Given the description of an element on the screen output the (x, y) to click on. 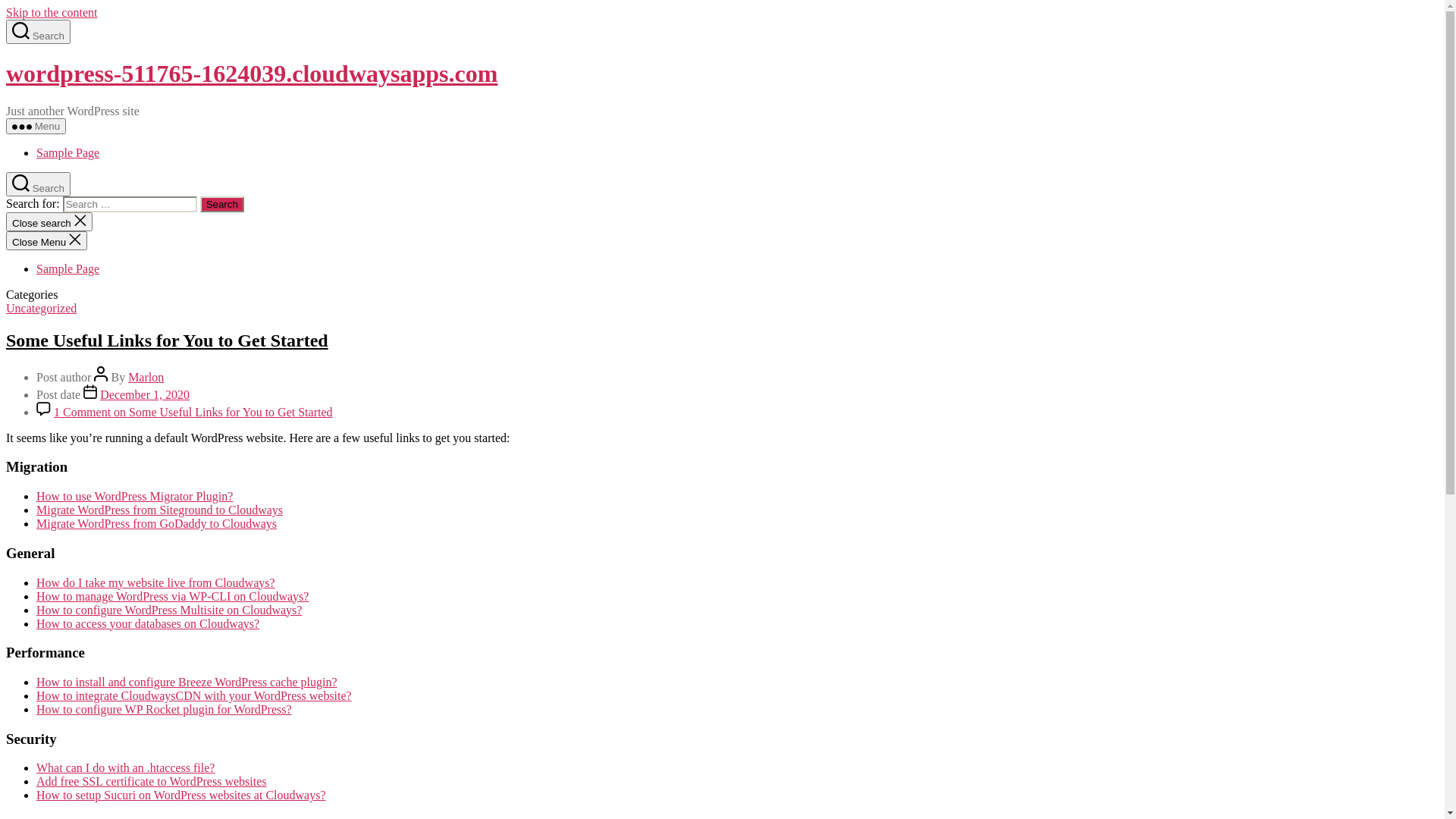
wordpress-511765-1624039.cloudwaysapps.com Element type: text (251, 73)
Search Element type: text (38, 31)
December 1, 2020 Element type: text (144, 394)
How to manage WordPress via WP-CLI on Cloudways? Element type: text (172, 595)
1 Comment on Some Useful Links for You to Get Started Element type: text (192, 411)
Uncategorized Element type: text (41, 307)
Add free SSL certificate to WordPress websites Element type: text (151, 781)
Close search Element type: text (49, 221)
Migrate WordPress from Siteground to Cloudways Element type: text (159, 509)
Menu Element type: text (35, 126)
Sample Page Element type: text (67, 268)
How to setup Sucuri on WordPress websites at Cloudways? Element type: text (181, 794)
How to install and configure Breeze WordPress cache plugin? Element type: text (186, 681)
How do I take my website live from Cloudways? Element type: text (155, 582)
Migrate WordPress from GoDaddy to Cloudways Element type: text (156, 523)
How to configure WP Rocket plugin for WordPress? Element type: text (163, 708)
Search Element type: text (222, 204)
Some Useful Links for You to Get Started Element type: text (167, 340)
Search Element type: text (38, 184)
How to integrate CloudwaysCDN with your WordPress website? Element type: text (193, 695)
Marlon Element type: text (145, 376)
Close Menu Element type: text (46, 240)
What can I do with an .htaccess file? Element type: text (125, 767)
How to access your databases on Cloudways? Element type: text (147, 623)
Skip to the content Element type: text (51, 12)
How to configure WordPress Multisite on Cloudways? Element type: text (168, 609)
Sample Page Element type: text (67, 152)
How to use WordPress Migrator Plugin? Element type: text (134, 495)
